Given the description of an element on the screen output the (x, y) to click on. 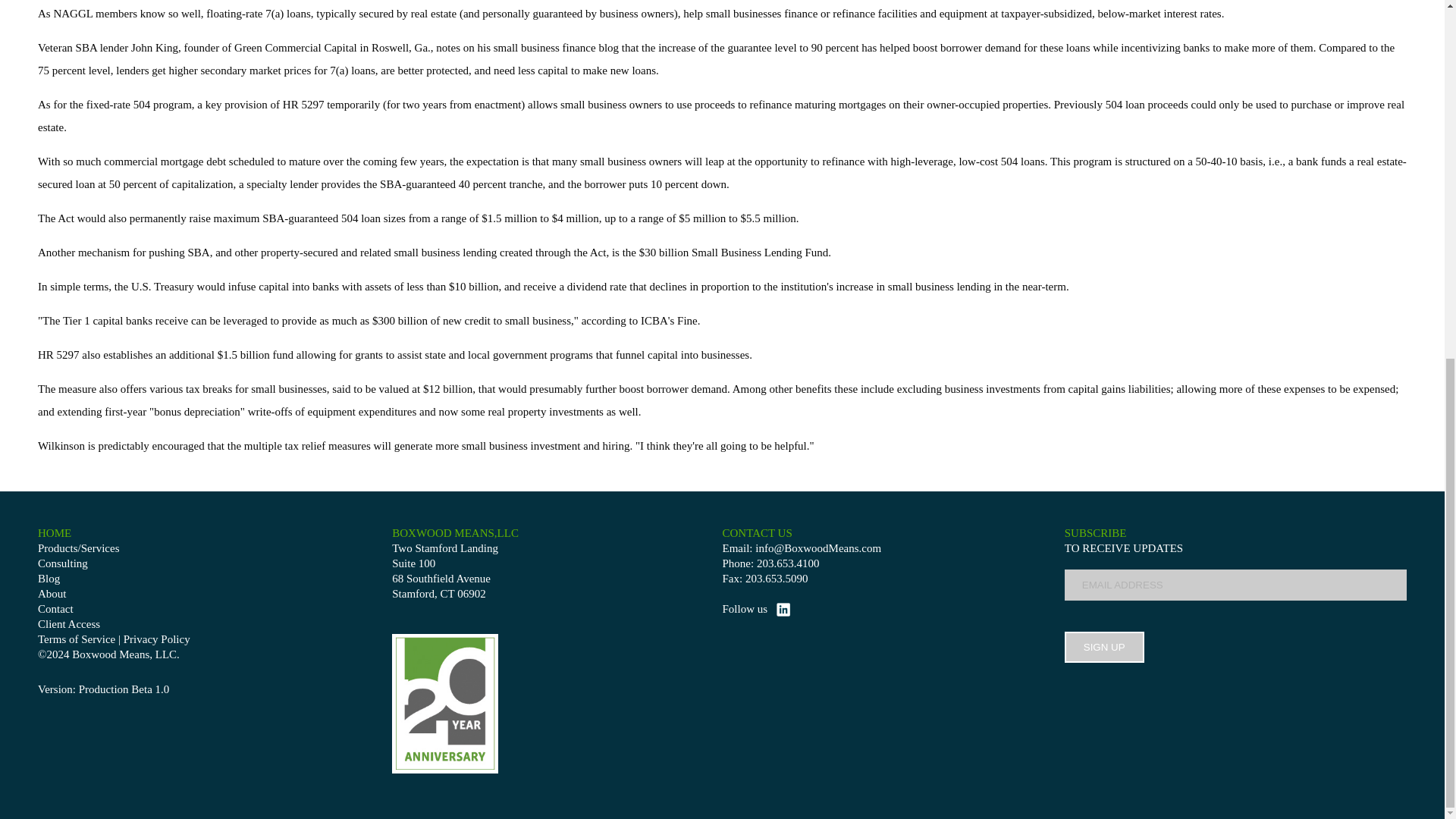
SIGN UP (1104, 646)
